Given the description of an element on the screen output the (x, y) to click on. 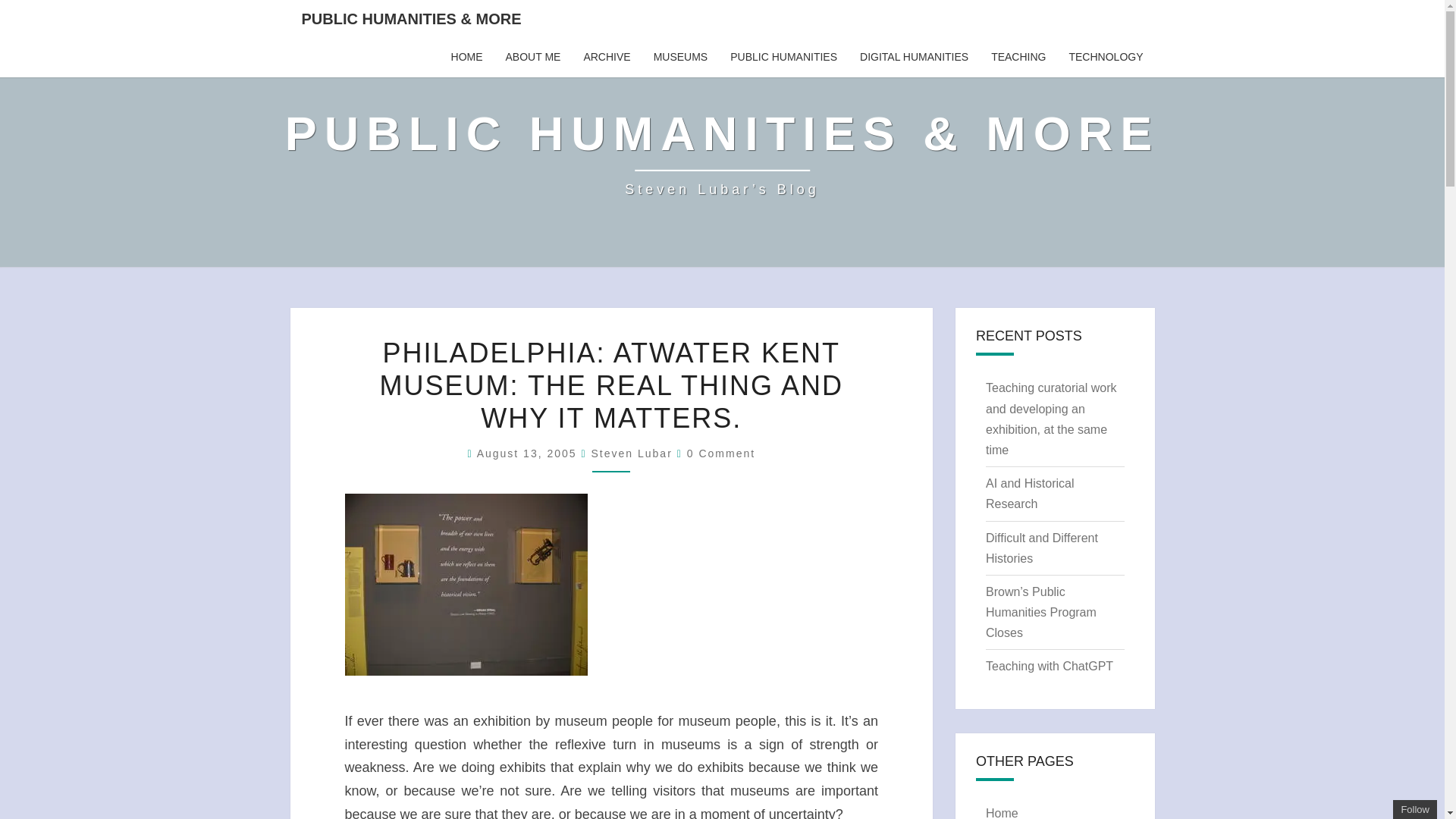
MUSEUMS (680, 56)
Home (1001, 812)
AI and Historical Research (1029, 493)
TEACHING (1018, 56)
11:10 pm (528, 453)
Difficult and Different Histories (1041, 548)
ARCHIVE (607, 56)
0 Comment (721, 453)
View all posts by Steven Lubar (631, 453)
Steven Lubar (631, 453)
